Given the description of an element on the screen output the (x, y) to click on. 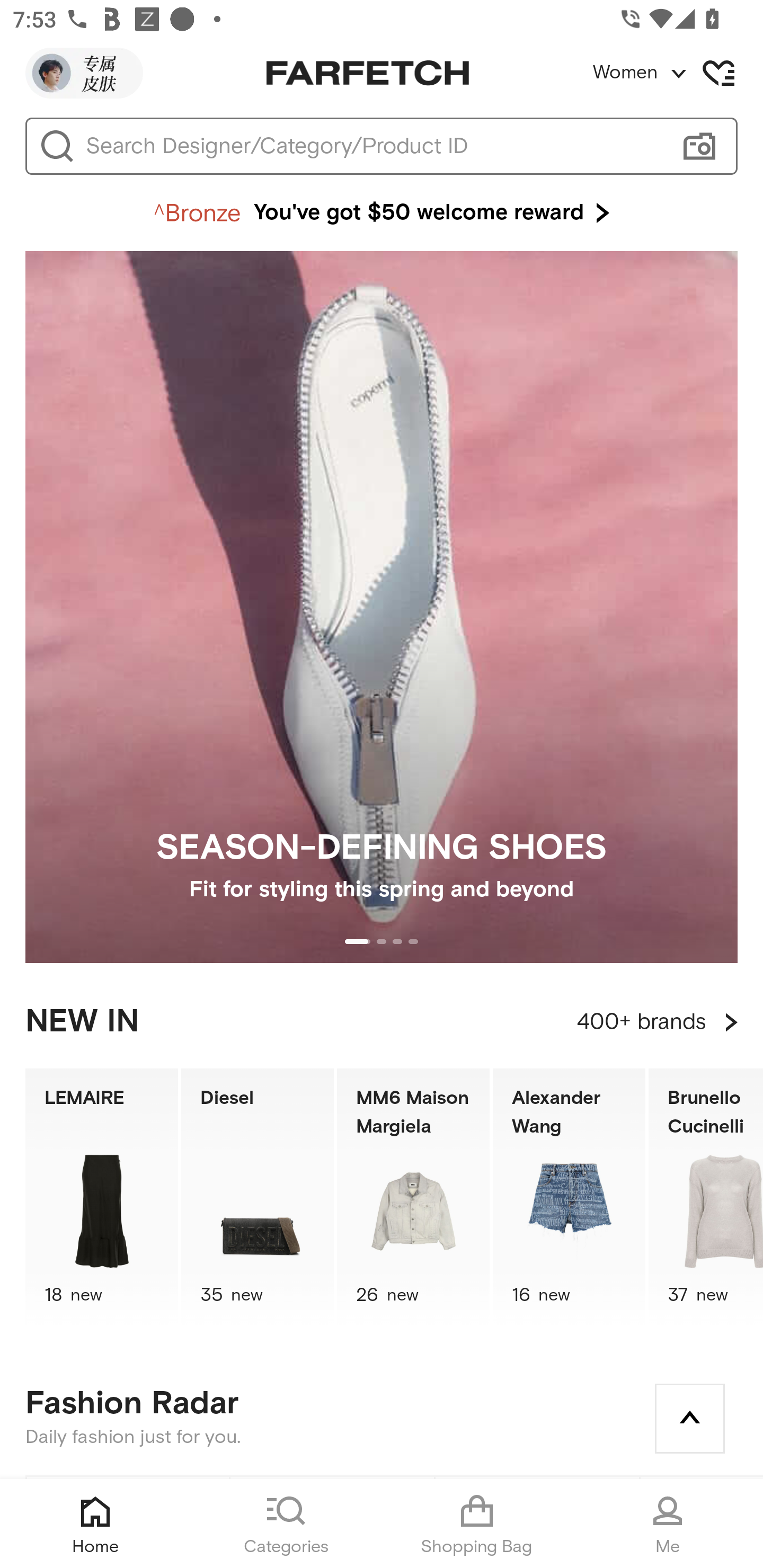
Women (677, 72)
Search Designer/Category/Product ID (373, 146)
You've got $50 welcome reward (381, 213)
NEW IN 400+ brands (381, 1021)
LEMAIRE 18  new (101, 1196)
Diesel 35  new (257, 1196)
MM6 Maison Margiela 26  new (413, 1196)
Alexander Wang 16  new (568, 1196)
Brunello Cucinelli 37  new (705, 1196)
Categories (285, 1523)
Shopping Bag (476, 1523)
Me (667, 1523)
